Given the description of an element on the screen output the (x, y) to click on. 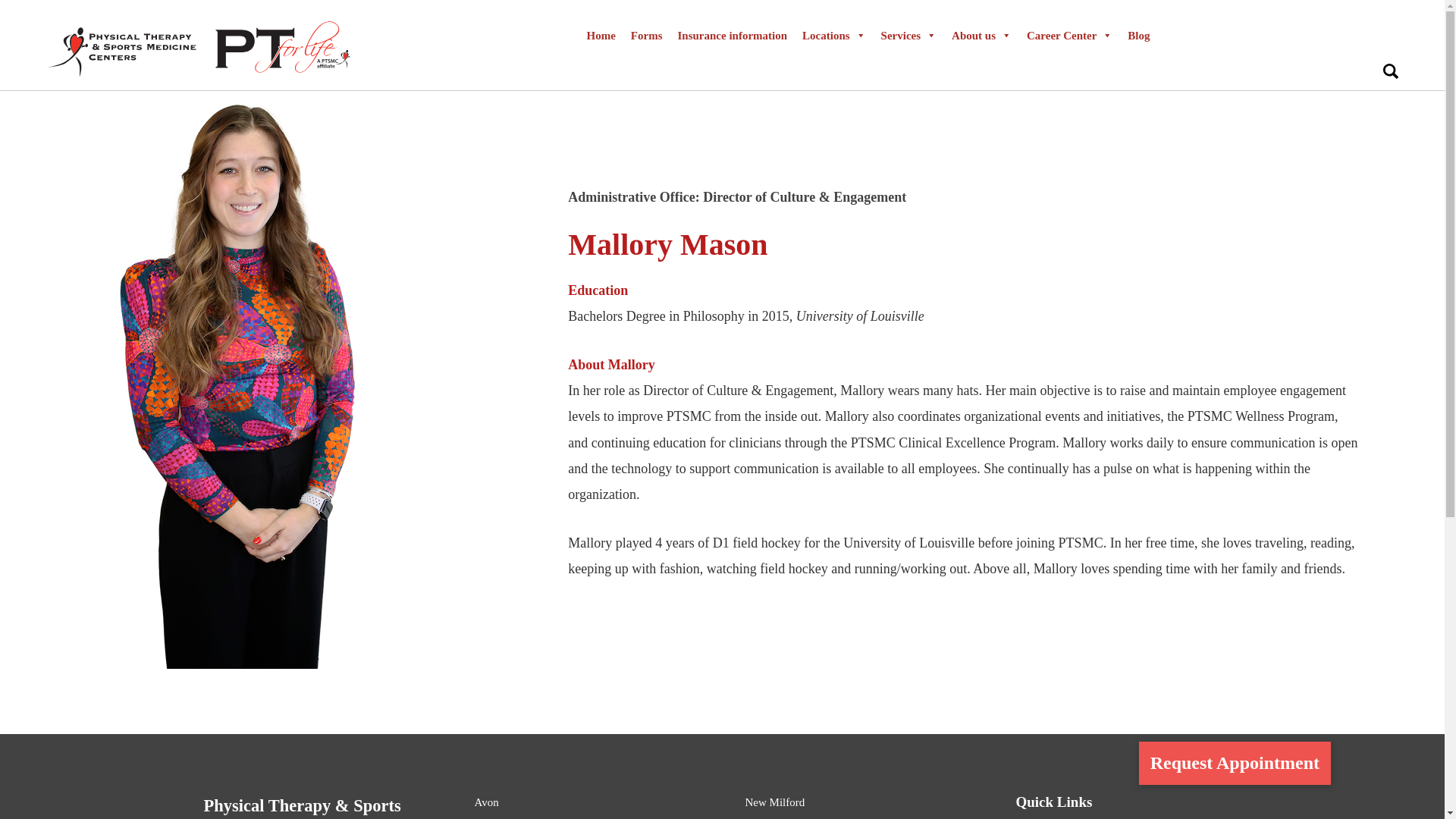
Forms (646, 35)
Home (601, 35)
Locations (833, 35)
Insurance information (731, 35)
